Given the description of an element on the screen output the (x, y) to click on. 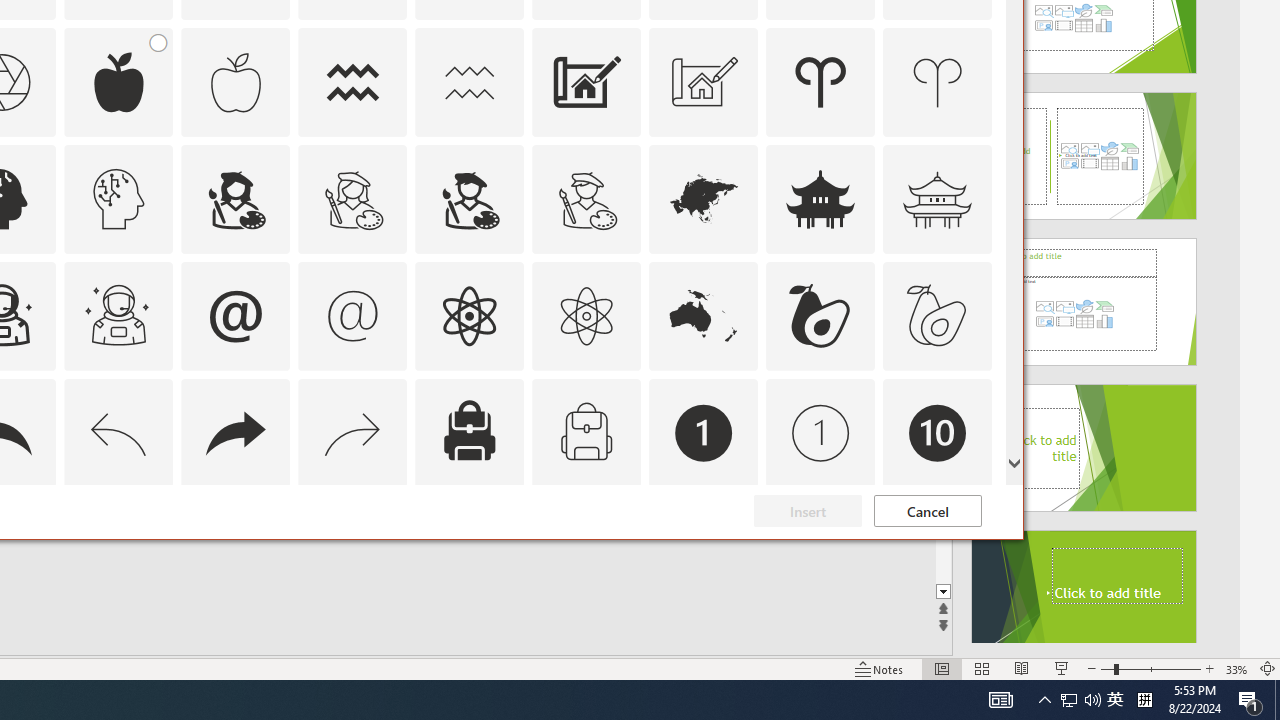
AutomationID: Icons_Avocado (820, 316)
AutomationID: Icons_Avocado_M (938, 316)
AutomationID: Icons_Badge9_M (938, 550)
AutomationID: Icons_At (235, 316)
